Given the description of an element on the screen output the (x, y) to click on. 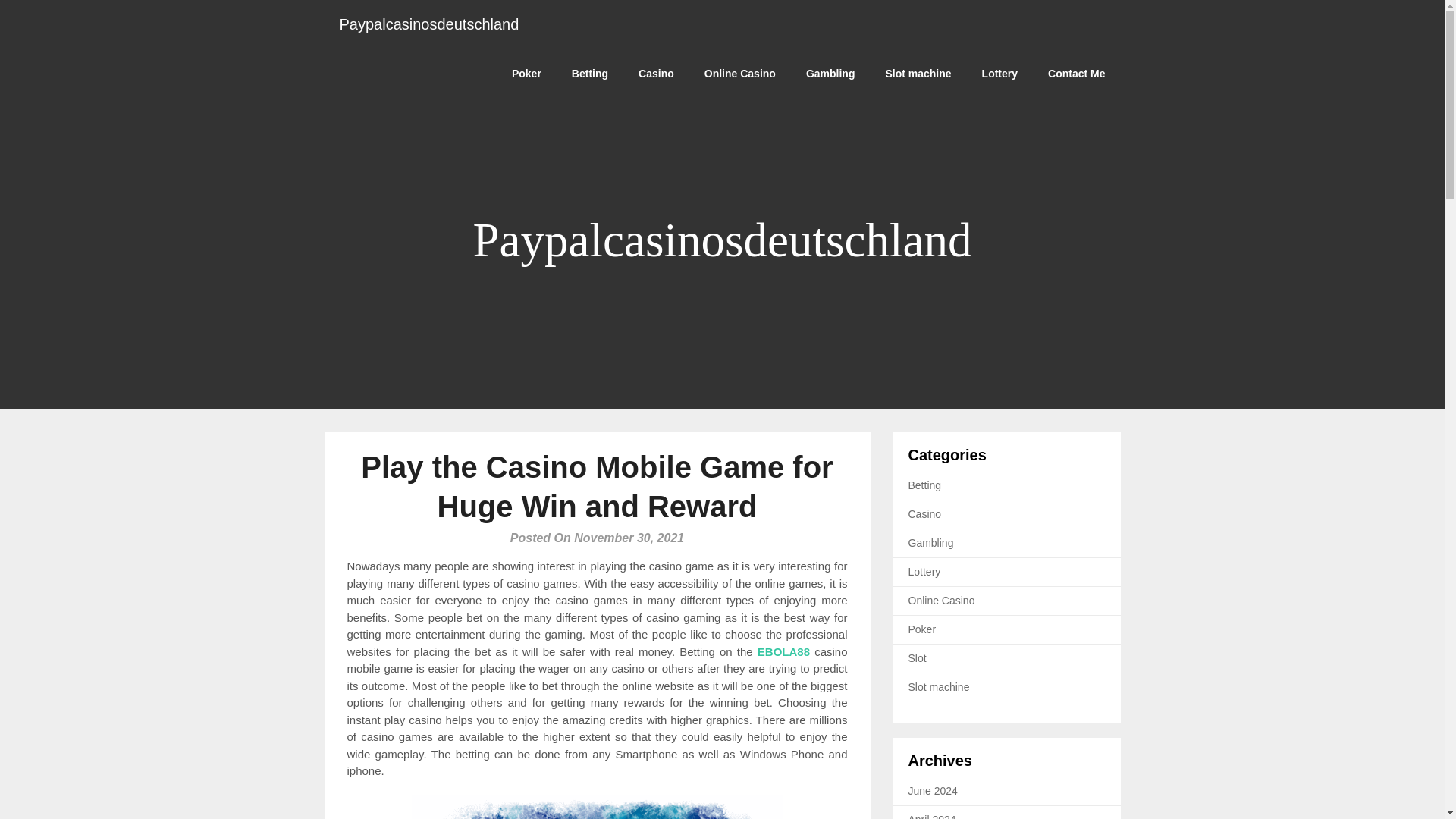
Contact Me (1075, 73)
Gambling (830, 73)
Paypalcasinosdeutschland (429, 24)
Online Casino (941, 600)
Gambling (930, 542)
Online Casino (739, 73)
EBOLA88 (783, 650)
Slot (917, 657)
Poker (526, 73)
June 2024 (933, 789)
Betting (925, 485)
Slot machine (917, 73)
Lottery (999, 73)
Slot machine (938, 686)
April 2024 (932, 816)
